Given the description of an element on the screen output the (x, y) to click on. 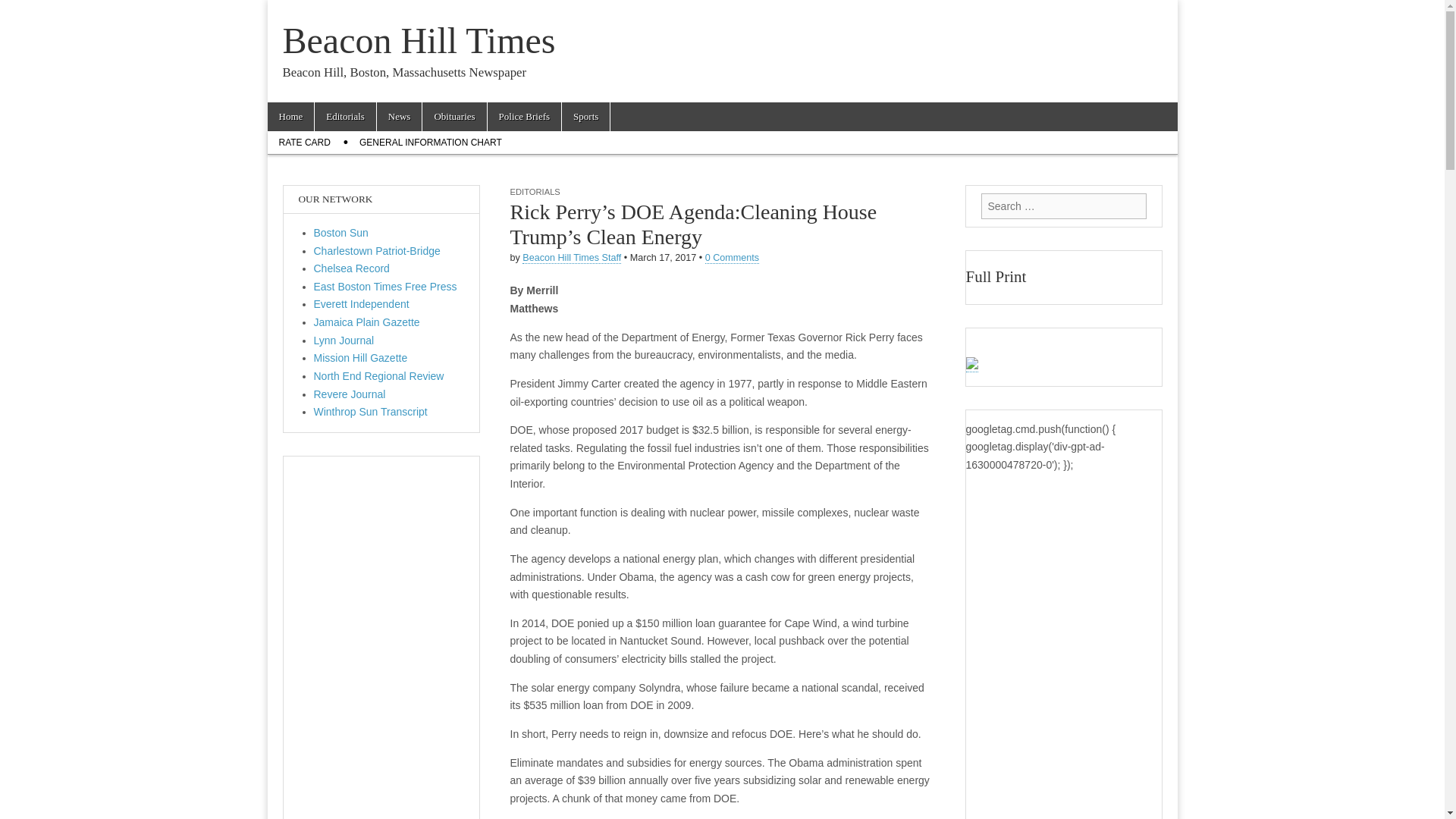
EDITORIALS (534, 191)
Beacon Hill Times Staff (571, 257)
Lynn Journal (344, 340)
Sports (586, 116)
Jamaica Plain Gazette (367, 322)
Mission Hill Gazette (360, 357)
Posts by Beacon Hill Times Staff (571, 257)
Beacon Hill Times (418, 40)
Charlestown Patriot-Bridge (377, 250)
North End Regional Review (379, 376)
